Given the description of an element on the screen output the (x, y) to click on. 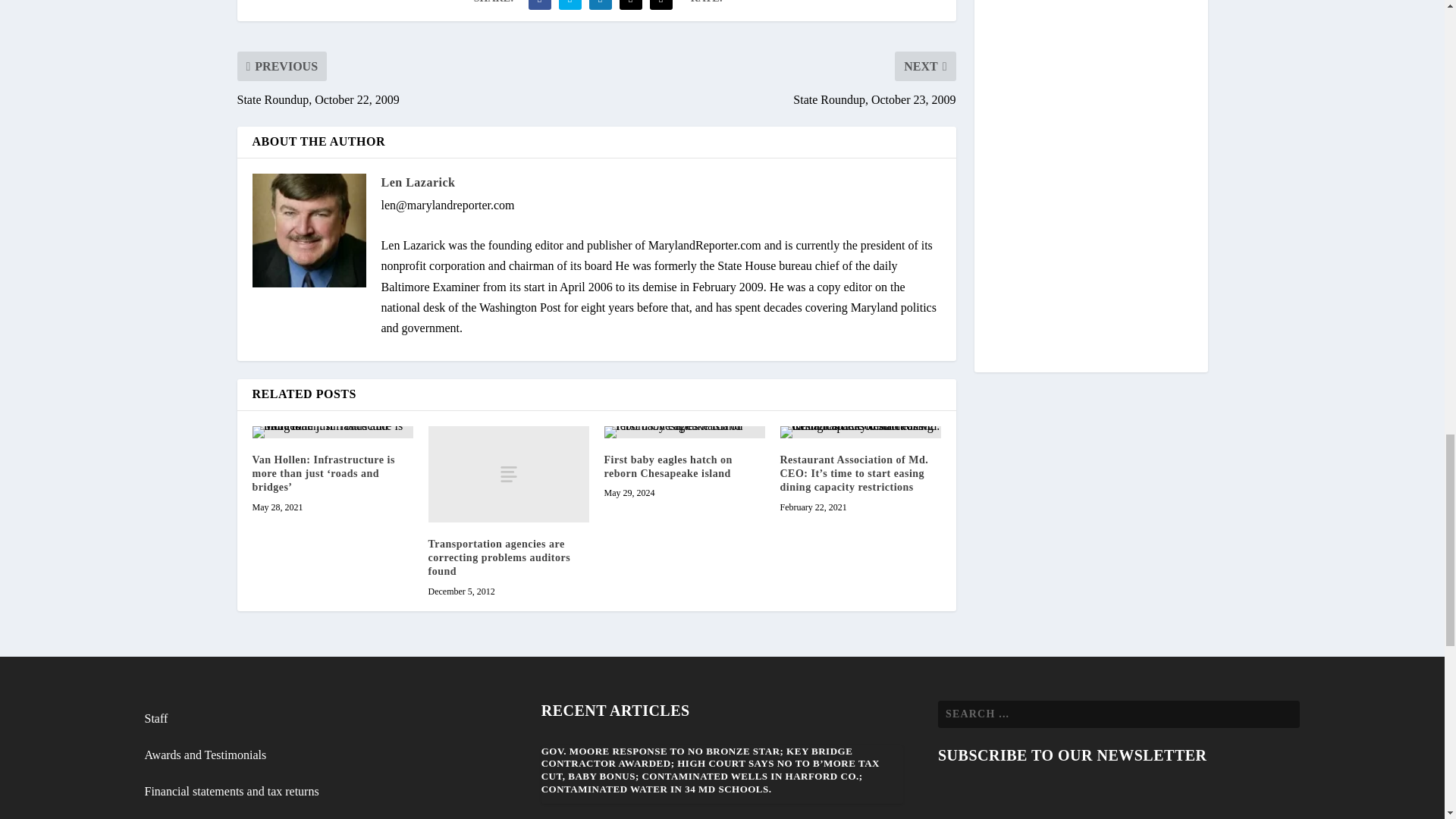
First baby eagles hatch on reborn Chesapeake island (668, 466)
View all posts by Len Lazarick (417, 182)
Len Lazarick (417, 182)
